Given the description of an element on the screen output the (x, y) to click on. 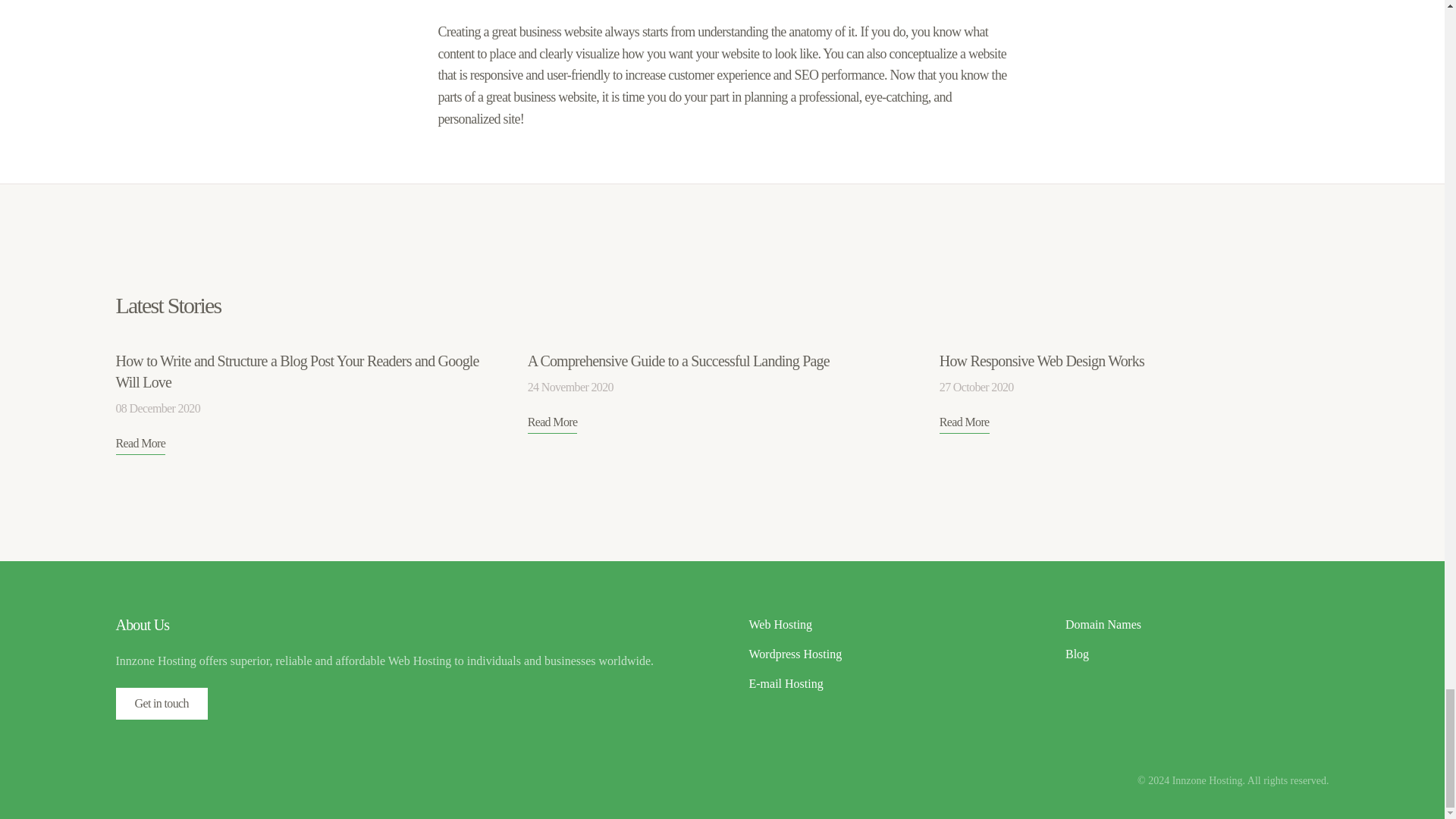
Read More (552, 422)
Domain Names (1197, 625)
Read More (964, 422)
Read More (140, 444)
A Comprehensive Guide to a Successful Landing Page (678, 360)
Wordpress Hosting (881, 654)
Get in touch (160, 703)
E-mail Hosting (881, 684)
Blog (1197, 654)
How Responsive Web Design Works (1041, 360)
